Given the description of an element on the screen output the (x, y) to click on. 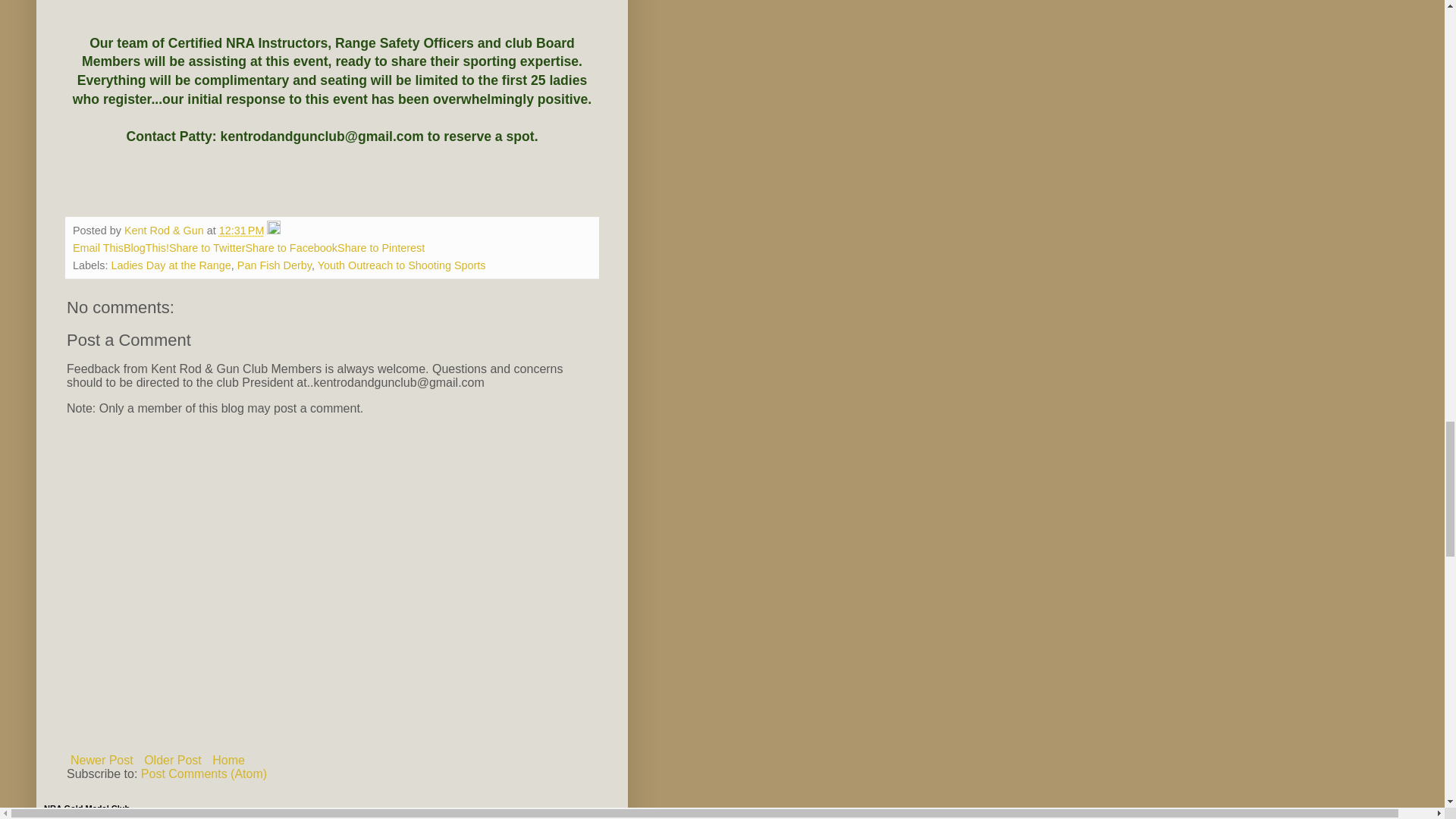
author profile (164, 230)
Pan Fish Derby (274, 265)
Email This (97, 247)
Ladies Day at the Range (170, 265)
Older Post (172, 760)
BlogThis! (145, 247)
Home (228, 760)
Share to Twitter (207, 247)
Share to Pinterest (381, 247)
Share to Facebook (290, 247)
BlogThis! (145, 247)
Email This (97, 247)
Share to Twitter (207, 247)
permanent link (241, 230)
